Given the description of an element on the screen output the (x, y) to click on. 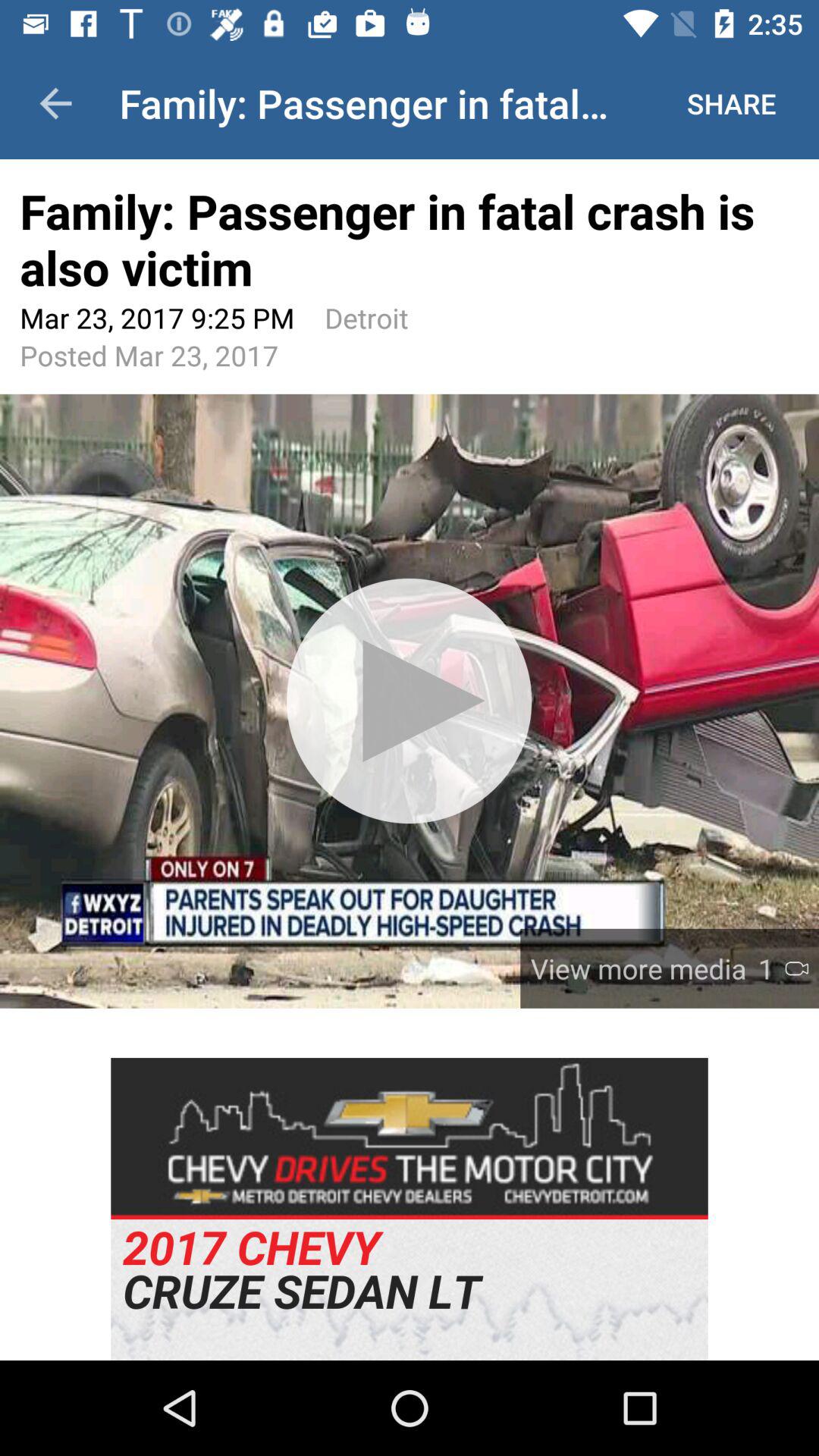
click on the button next to family passenger in fatal (731, 103)
